Given the description of an element on the screen output the (x, y) to click on. 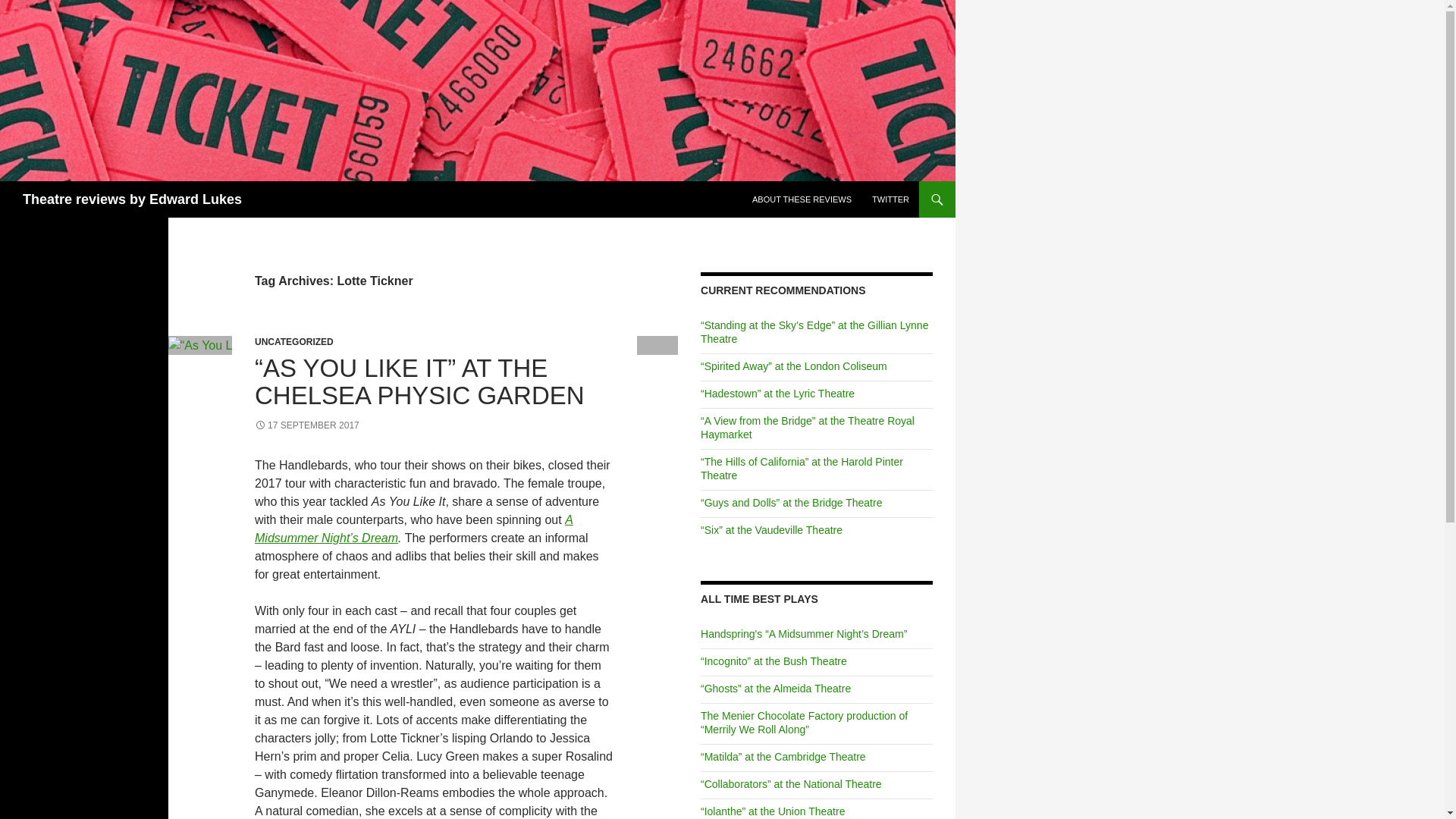
TWITTER (890, 198)
UNCATEGORIZED (293, 341)
Theatre reviews by Edward Lukes (132, 198)
17 SEPTEMBER 2017 (306, 425)
ABOUT THESE REVIEWS (801, 198)
